Given the description of an element on the screen output the (x, y) to click on. 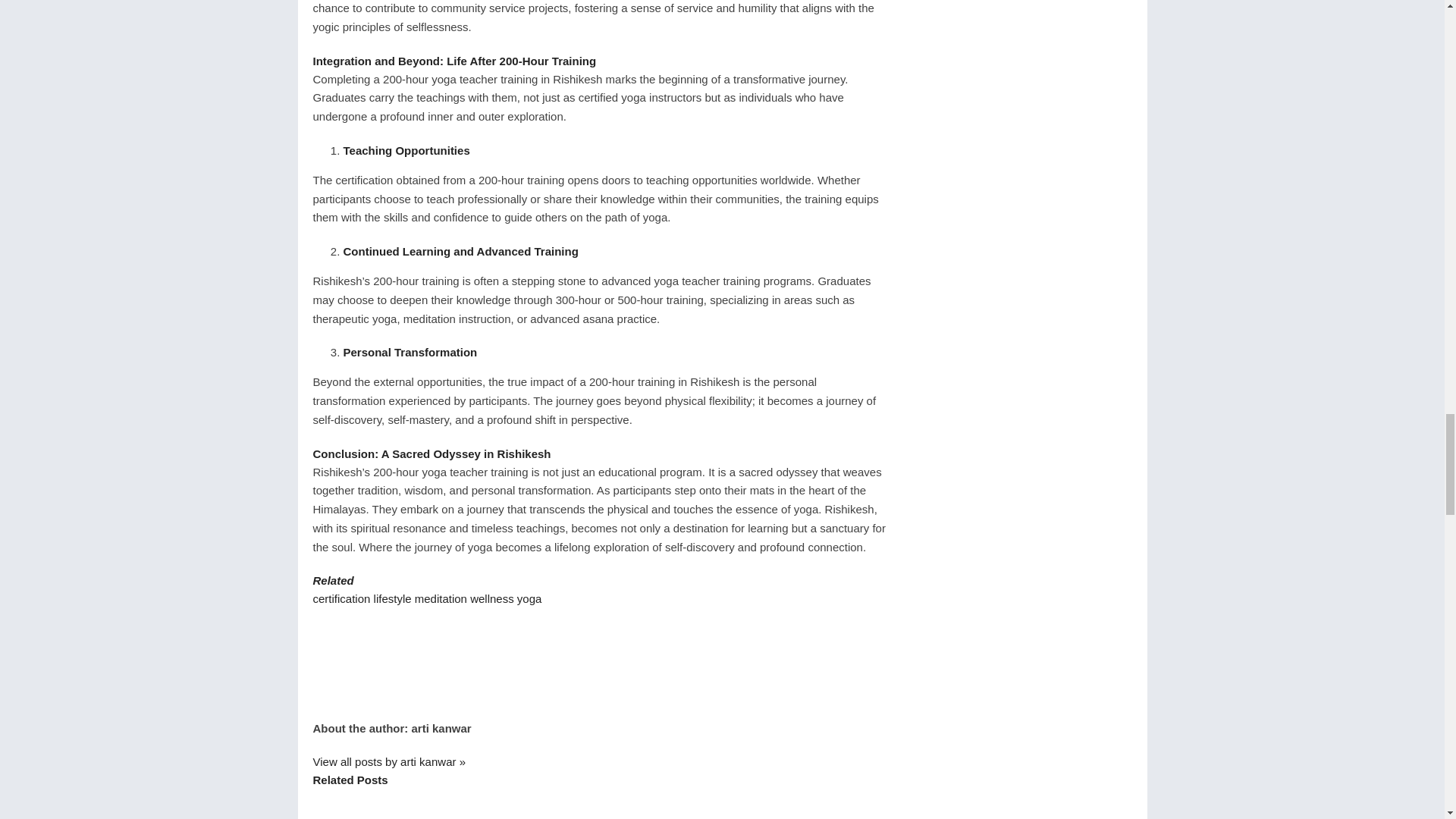
Impotence in Diabetes  Patients: A Comprehensive Guide (495, 804)
